Given the description of an element on the screen output the (x, y) to click on. 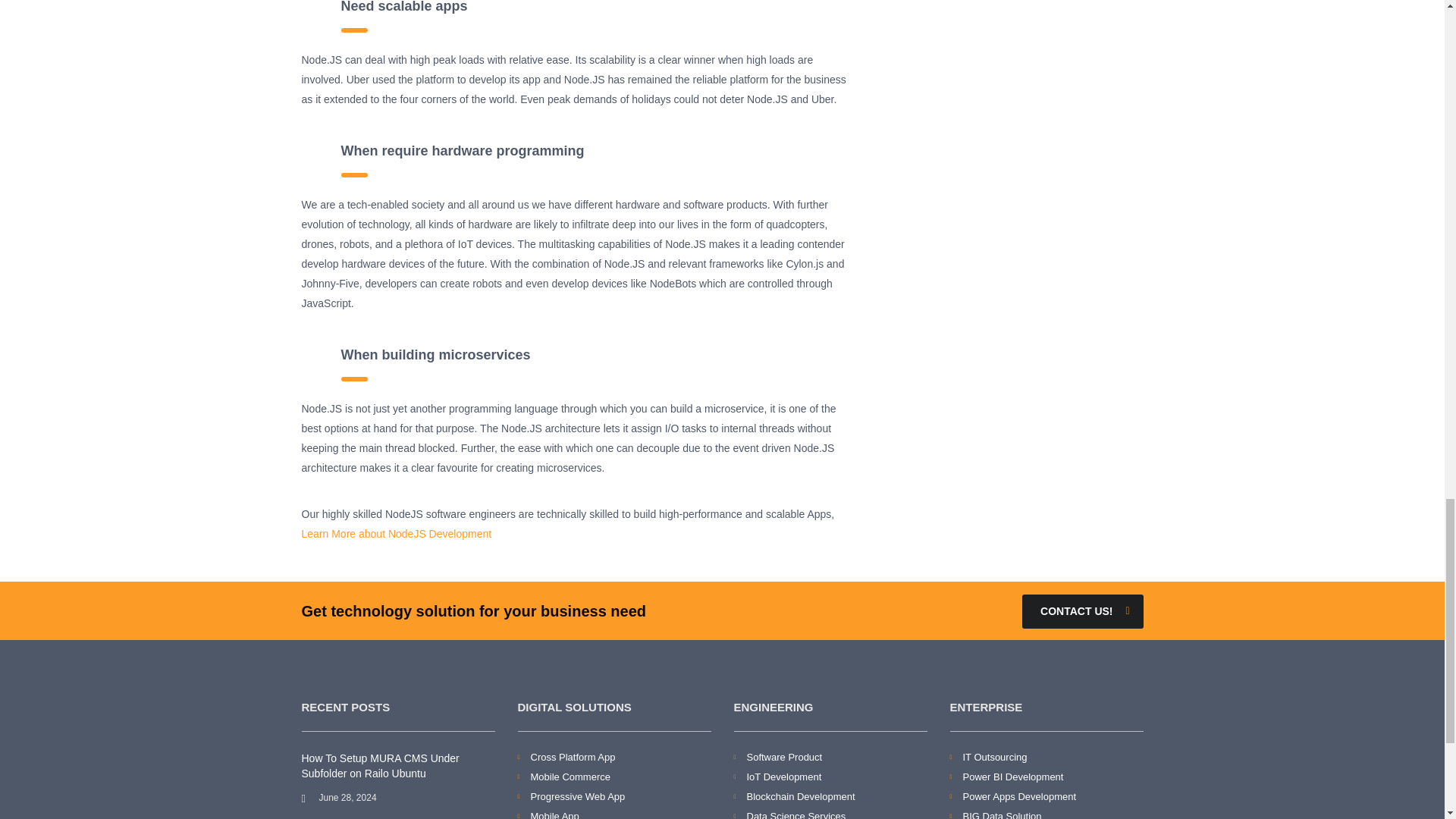
Get in Touch (1082, 611)
